Given the description of an element on the screen output the (x, y) to click on. 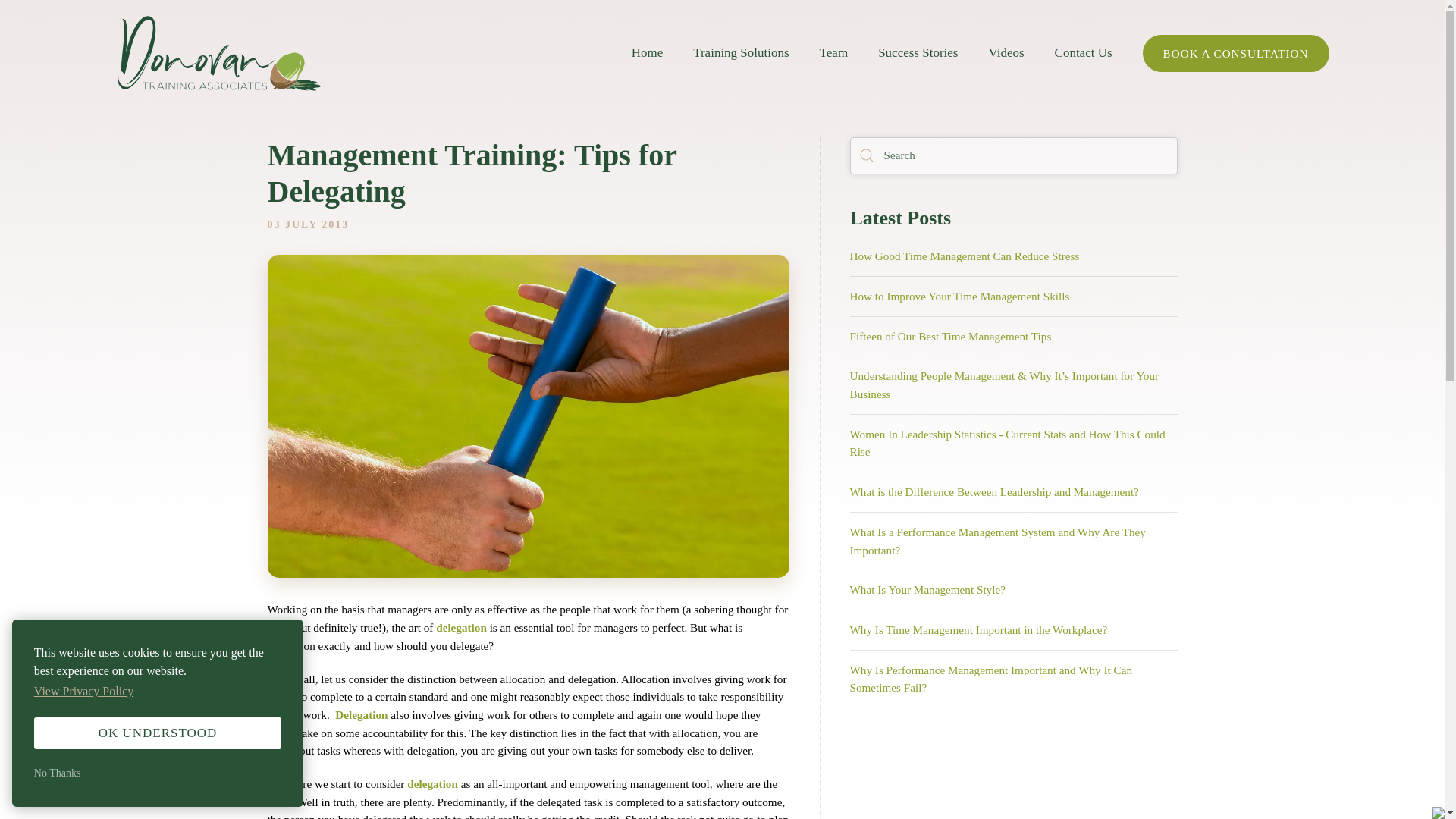
Home (647, 53)
View Privacy Policy (84, 691)
No Thanks (157, 773)
Videos (1005, 53)
OK UNDERSTOOD (157, 733)
Success Stories (917, 53)
Training Solutions (741, 53)
